Given the description of an element on the screen output the (x, y) to click on. 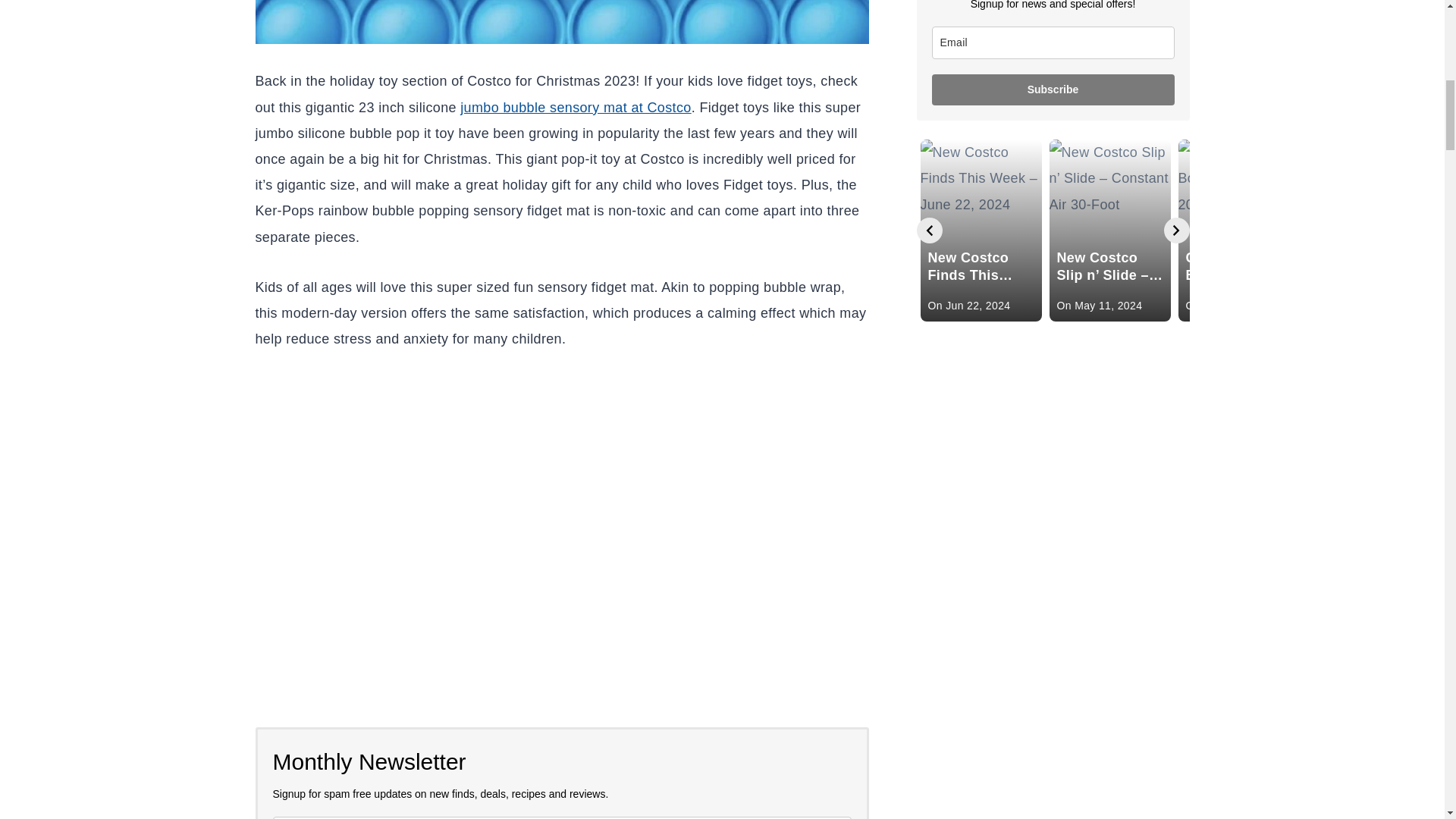
jumbo bubble sensory mat at Costco (575, 107)
Ker-Pops Super Jumbo Bubble Sensory Mat at Costco 1 (560, 22)
